Given the description of an element on the screen output the (x, y) to click on. 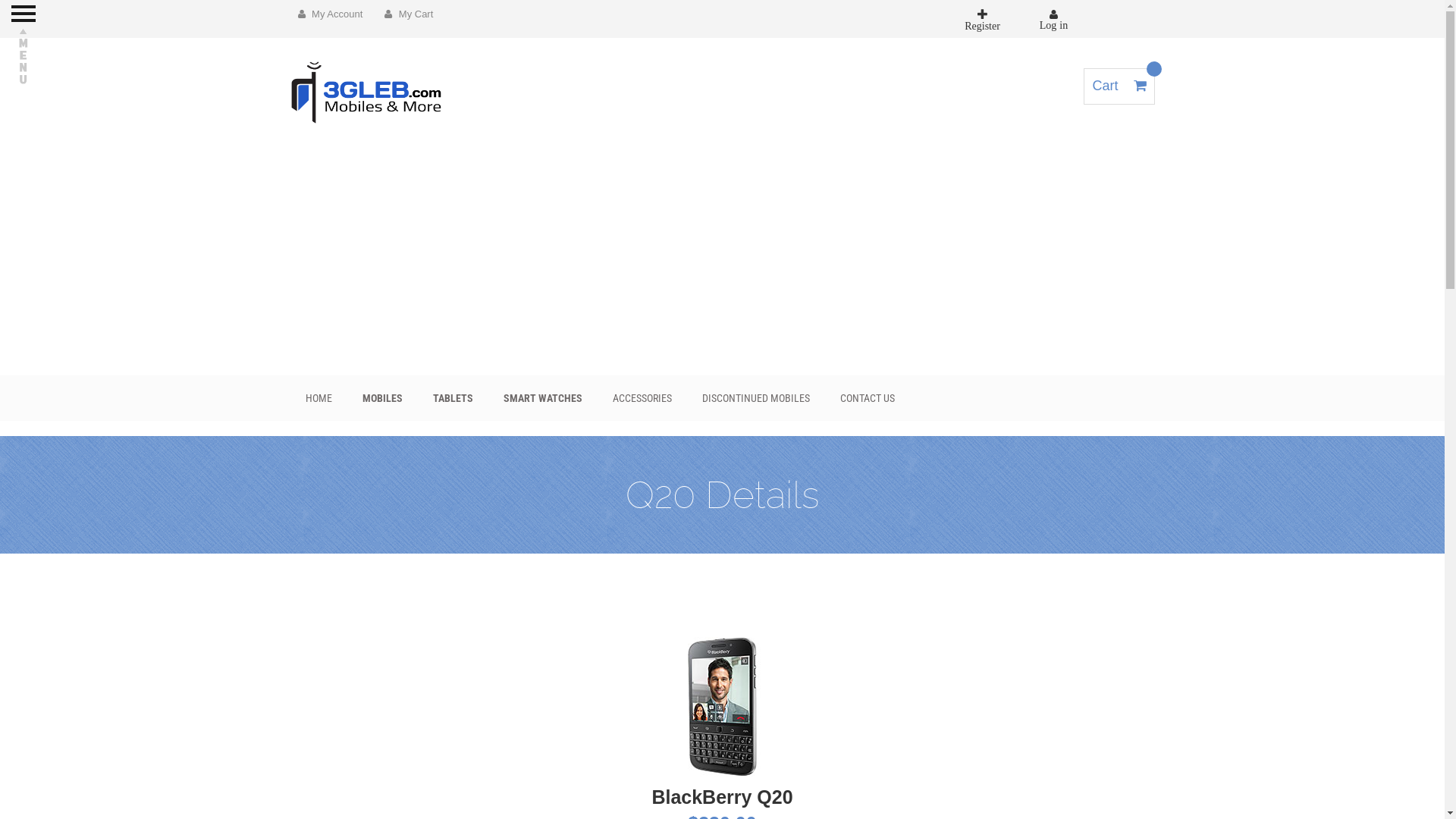
My Cart Element type: text (408, 14)
MOBILES Element type: text (382, 397)
My Account Element type: text (329, 14)
Advertisement Element type: hover (721, 261)
Register Element type: text (982, 18)
SMART WATCHES Element type: text (542, 397)
Log in Element type: text (1052, 19)
TABLETS Element type: text (452, 397)
ACCESSORIES Element type: text (642, 397)
CONTACT US Element type: text (867, 397)
DISCONTINUED MOBILES Element type: text (756, 397)
HOME Element type: text (317, 397)
